Given the description of an element on the screen output the (x, y) to click on. 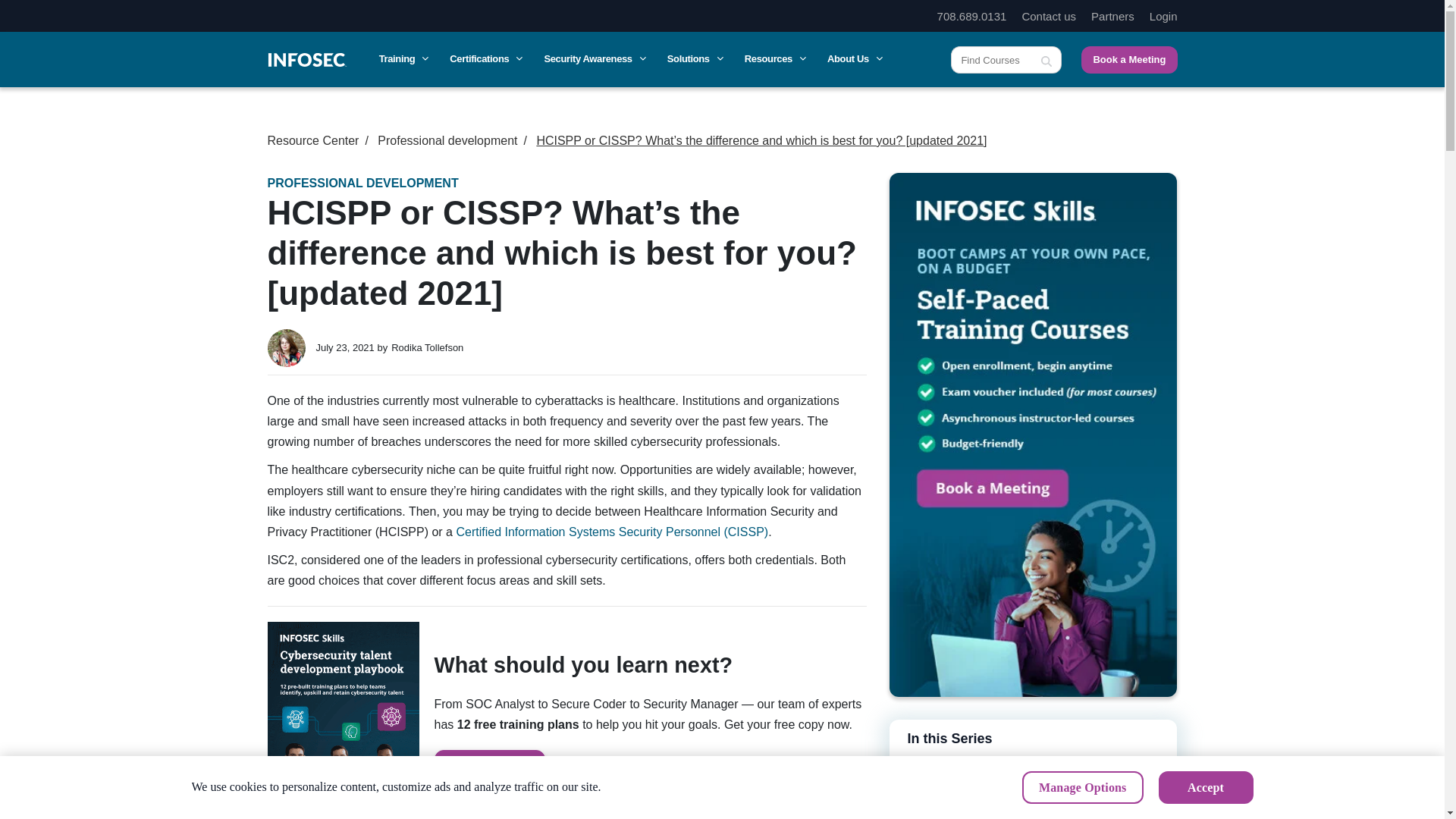
Login (1163, 15)
Contact us (1048, 15)
708.689.0131 (972, 15)
Login (1163, 15)
Partners (1112, 15)
Book a Meeting (1032, 433)
Get Your Plan (488, 767)
Certifications (484, 59)
Book a Meeting (1128, 59)
Infosec logo (306, 59)
